Given the description of an element on the screen output the (x, y) to click on. 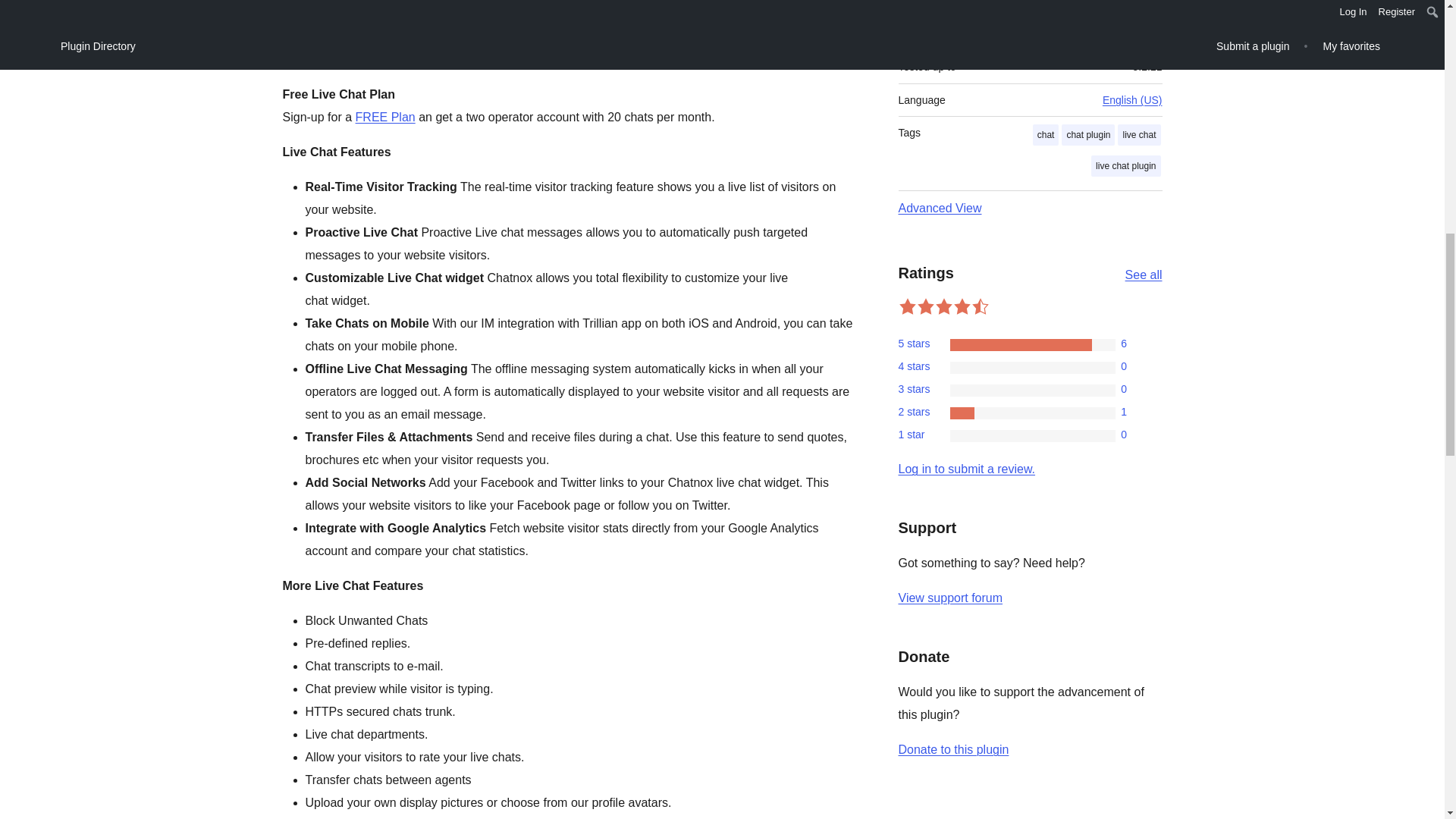
Log in to WordPress.org (966, 468)
FREE Plan (384, 116)
